Given the description of an element on the screen output the (x, y) to click on. 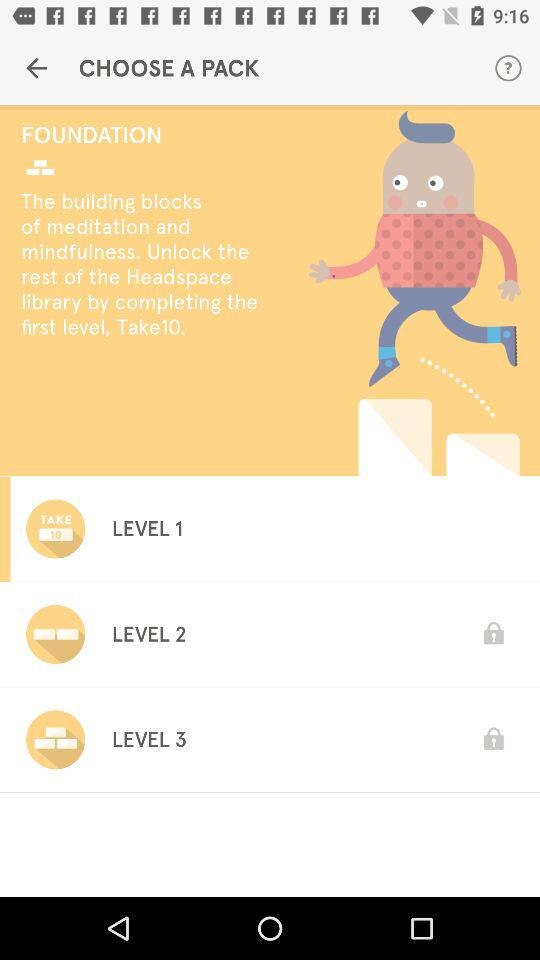
launch level 1 icon (146, 528)
